Given the description of an element on the screen output the (x, y) to click on. 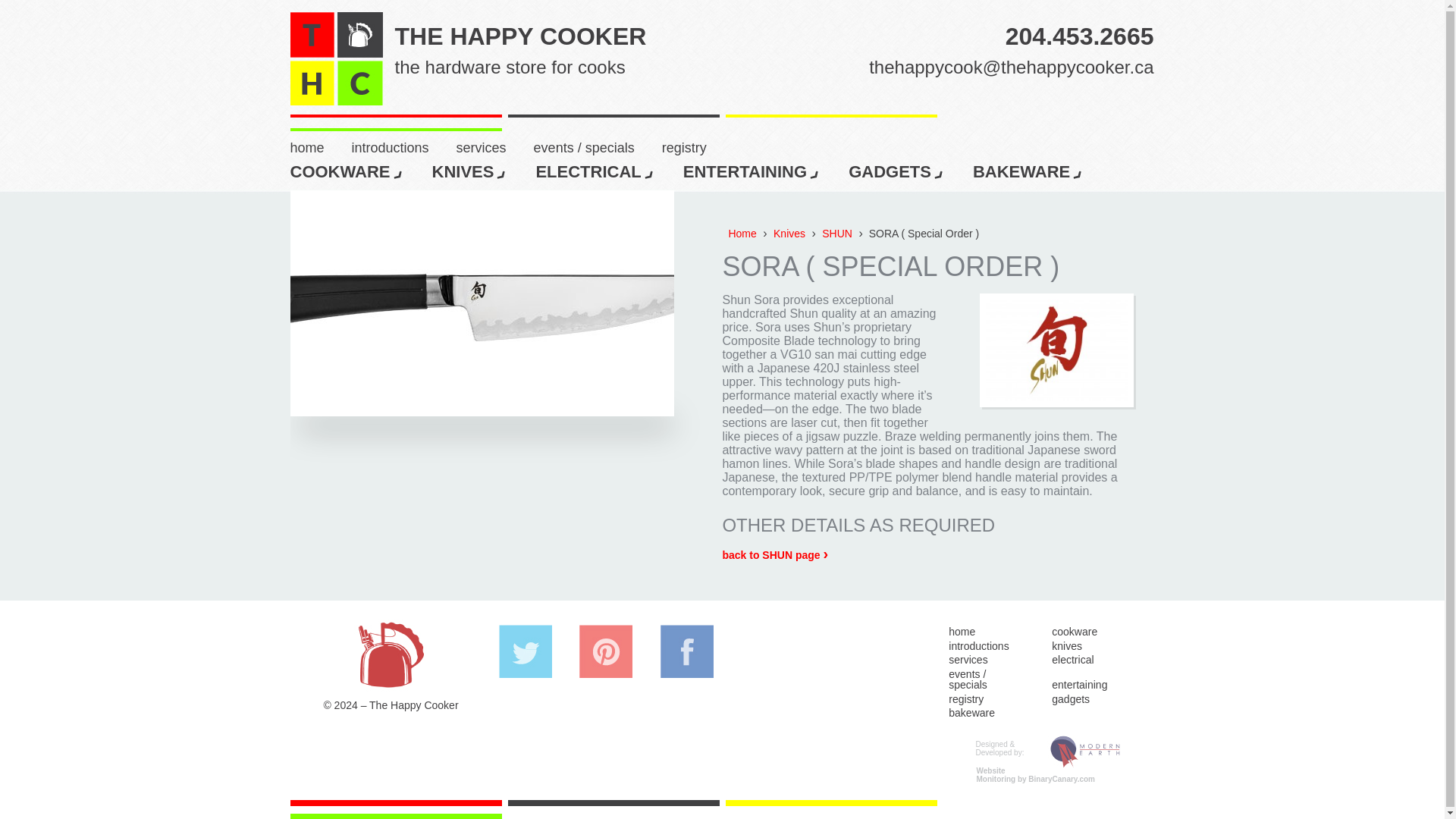
204.453.2665 (471, 169)
services (1080, 27)
home (495, 146)
registry (347, 169)
The Happy Cooker - Kitchen Utensils - Winnipeg - Manitoba  (319, 146)
introductions (697, 146)
